Given the description of an element on the screen output the (x, y) to click on. 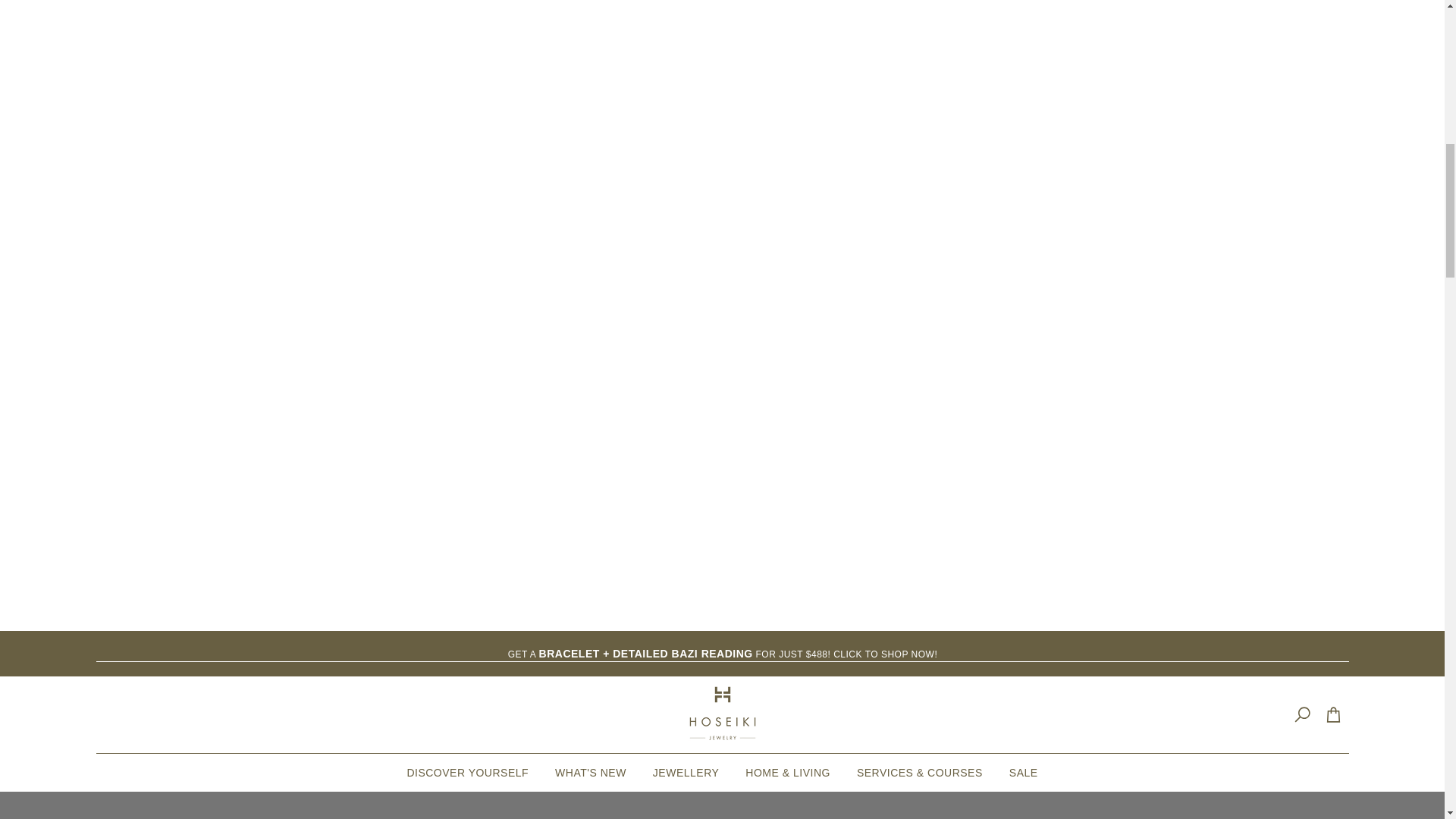
JEWELLERY (685, 772)
DISCOVER YOURSELF (467, 772)
SALE (1023, 772)
CLICK TO SHOP NOW (883, 654)
Bazi Reading and Bracelet Bundle Set (883, 654)
WHAT'S NEW (590, 772)
